Given the description of an element on the screen output the (x, y) to click on. 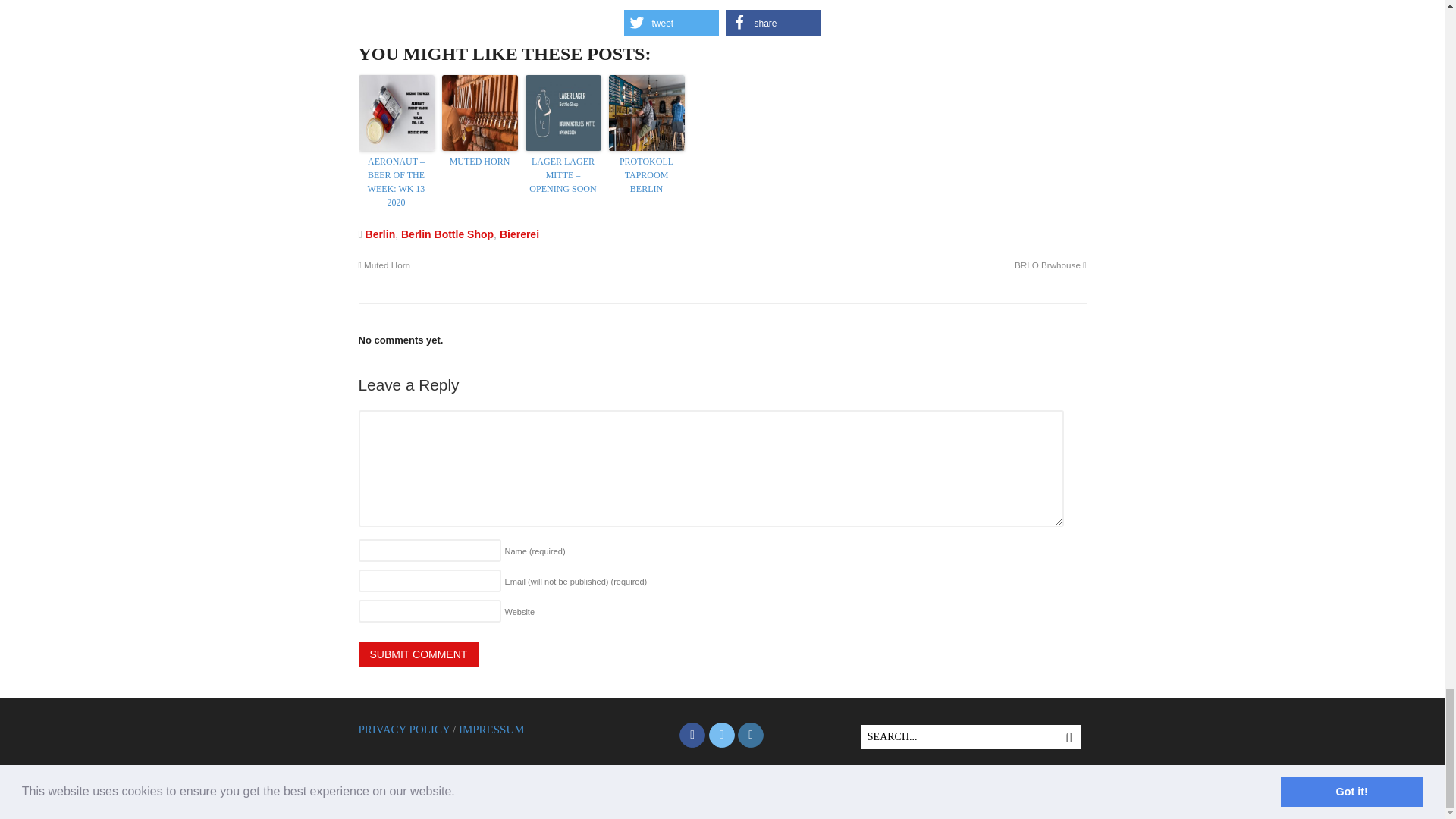
Submit Comment (418, 654)
Search... (960, 736)
tweet  (670, 22)
MUTED HORN (478, 161)
share  (773, 22)
It Must Beer Love on Facebook (691, 735)
It Must Beer Love on Twitter (722, 735)
Share on Facebook (773, 22)
Share on Twitter (670, 22)
It Must Beer Love on Instagram (750, 735)
